Given the description of an element on the screen output the (x, y) to click on. 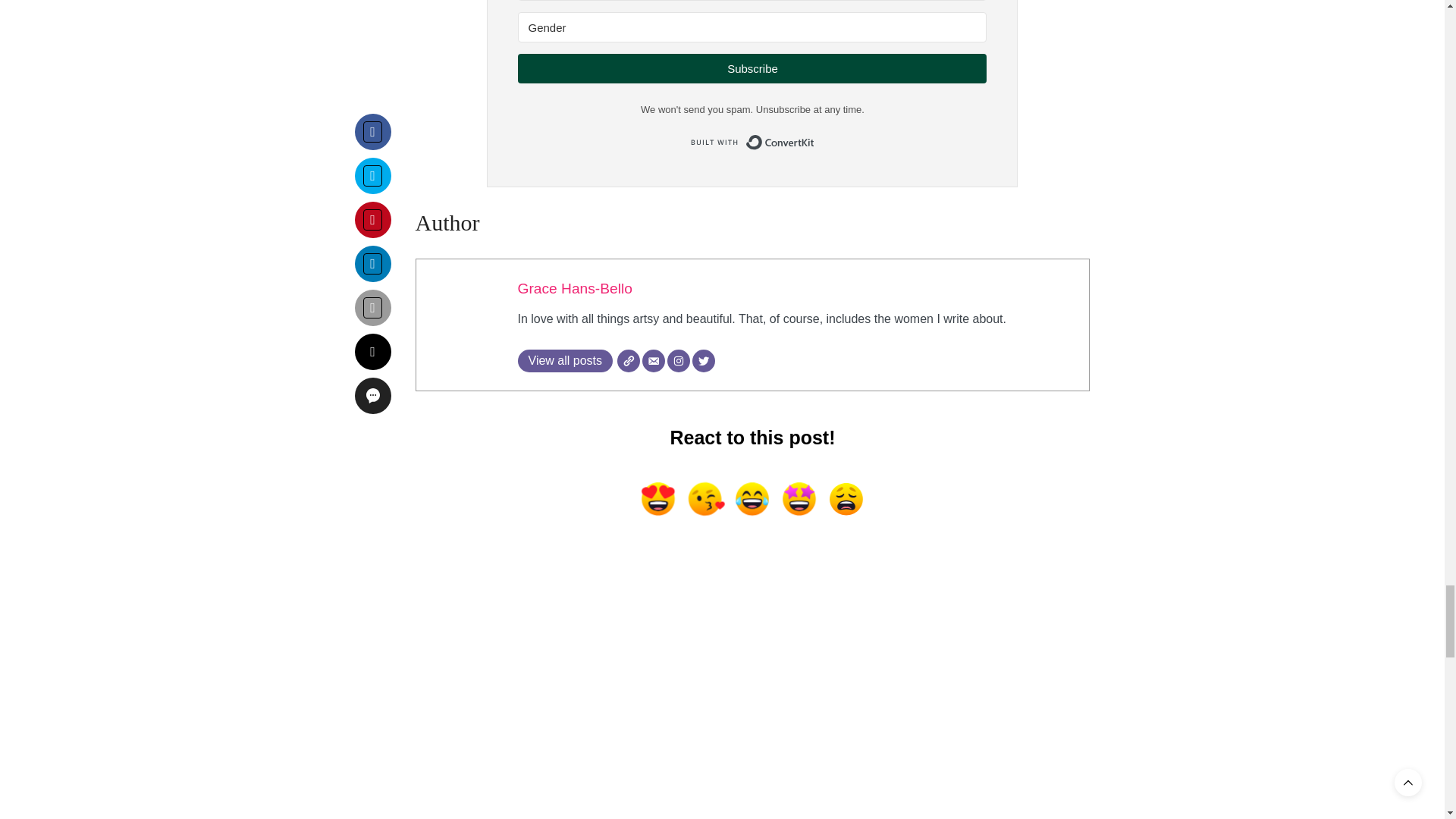
Grace Hans-Bello (573, 288)
Built with ConvertKit (751, 142)
View all posts (564, 360)
Subscribe (752, 68)
Grace Hans-Bello (573, 288)
